Given the description of an element on the screen output the (x, y) to click on. 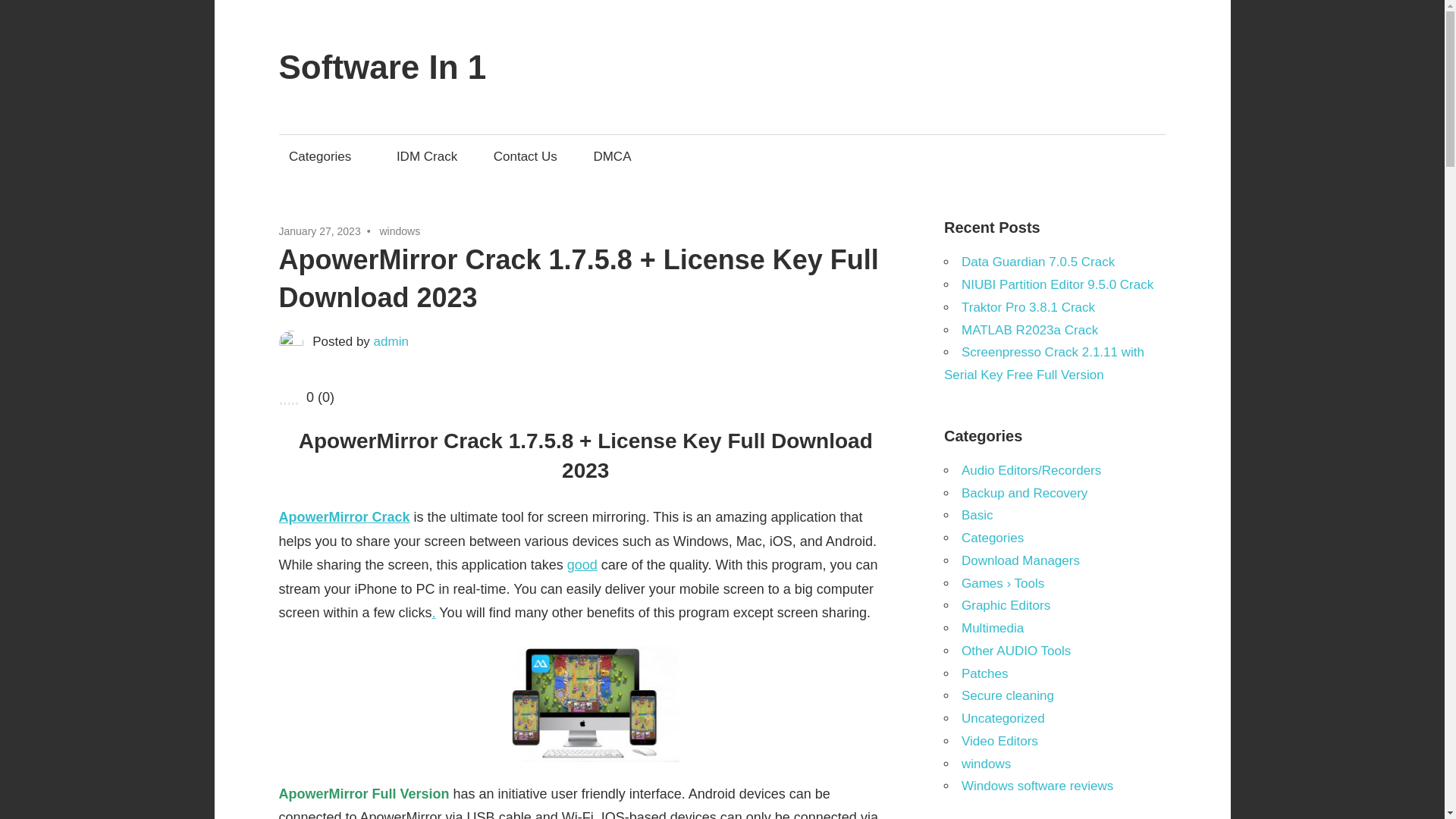
5:03 am (320, 231)
DMCA (612, 156)
Software In 1 (382, 66)
Contact Us (525, 156)
View all posts by admin (391, 341)
Categories (325, 156)
IDM Crack (426, 156)
January 27, 2023 (320, 231)
admin (391, 341)
good (581, 564)
